Given the description of an element on the screen output the (x, y) to click on. 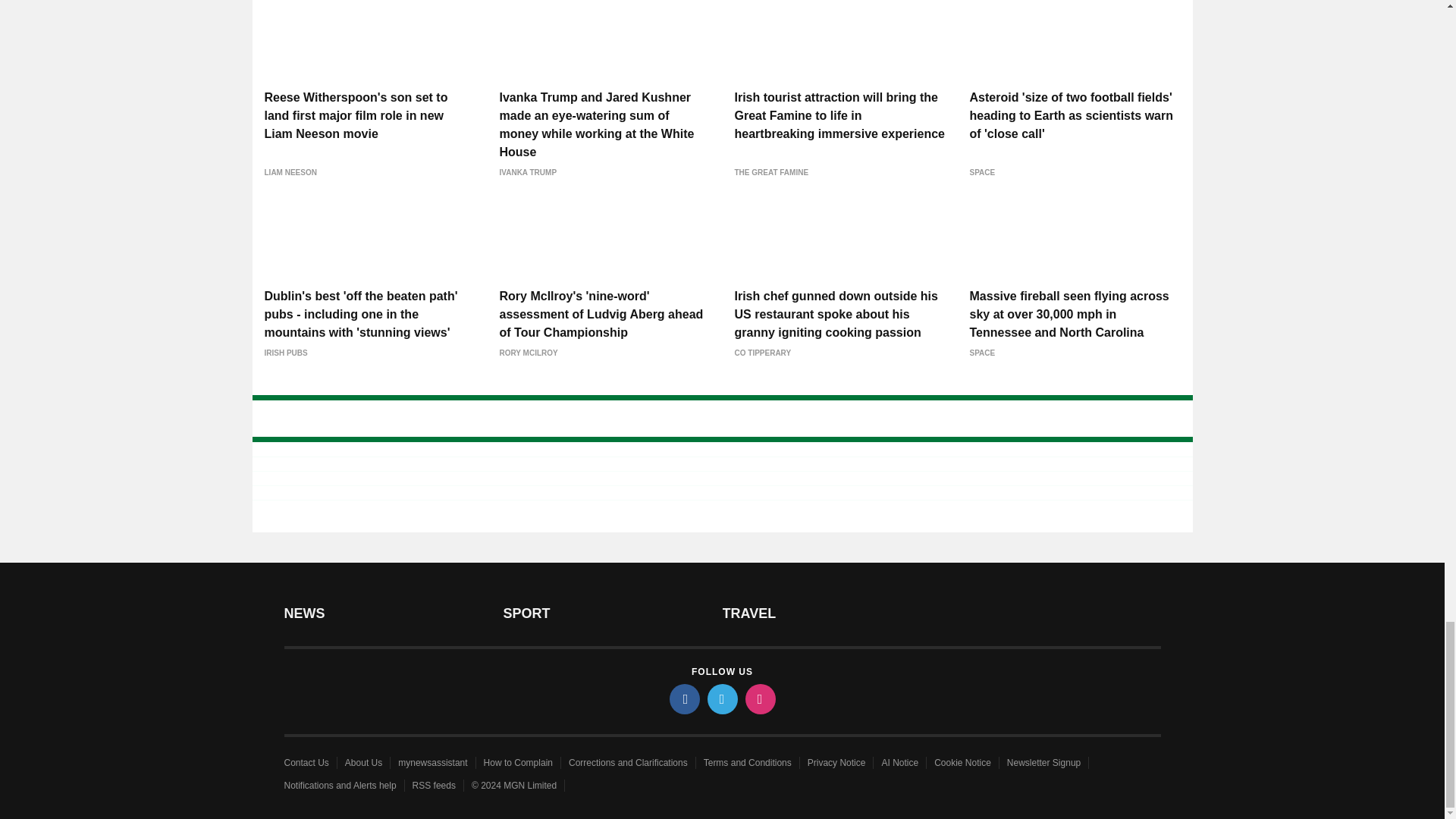
twitter (721, 698)
facebook (683, 698)
instagram (759, 698)
